Given the description of an element on the screen output the (x, y) to click on. 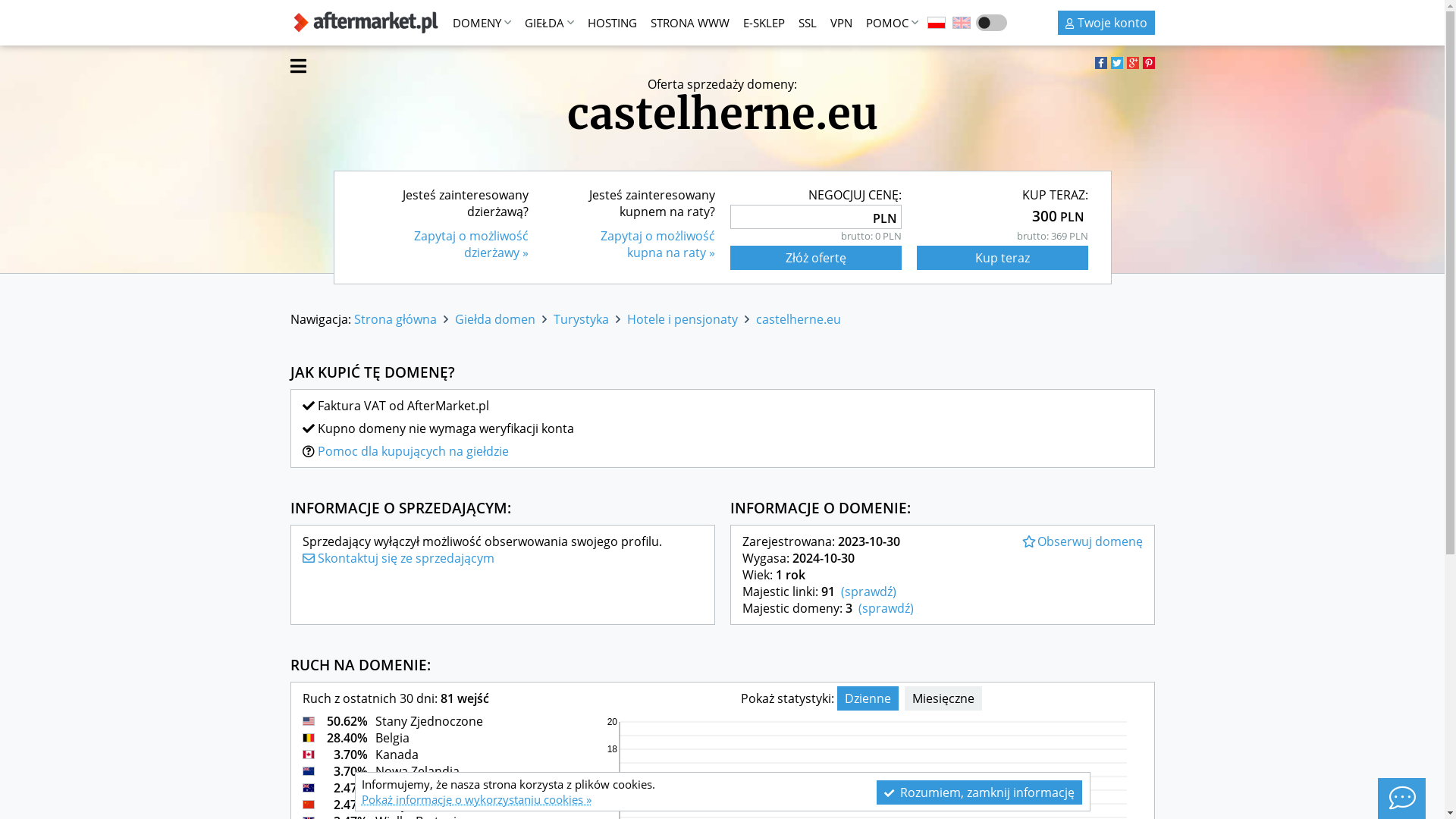
Hotele i pensjonaty Element type: text (681, 318)
Dzienne Element type: text (867, 698)
Kup teraz Element type: text (1001, 257)
SSL Element type: text (807, 22)
Twoje konto Element type: text (1105, 22)
castelherne.eu Element type: text (797, 318)
DOMENY Element type: text (481, 22)
E-SKLEP Element type: text (762, 22)
Turystyka Element type: text (580, 318)
logo aftermarket Element type: hover (364, 22)
STRONA WWW Element type: text (689, 22)
VPN Element type: text (841, 22)
POMOC Element type: text (891, 22)
HOSTING Element type: text (611, 22)
